Given the description of an element on the screen output the (x, y) to click on. 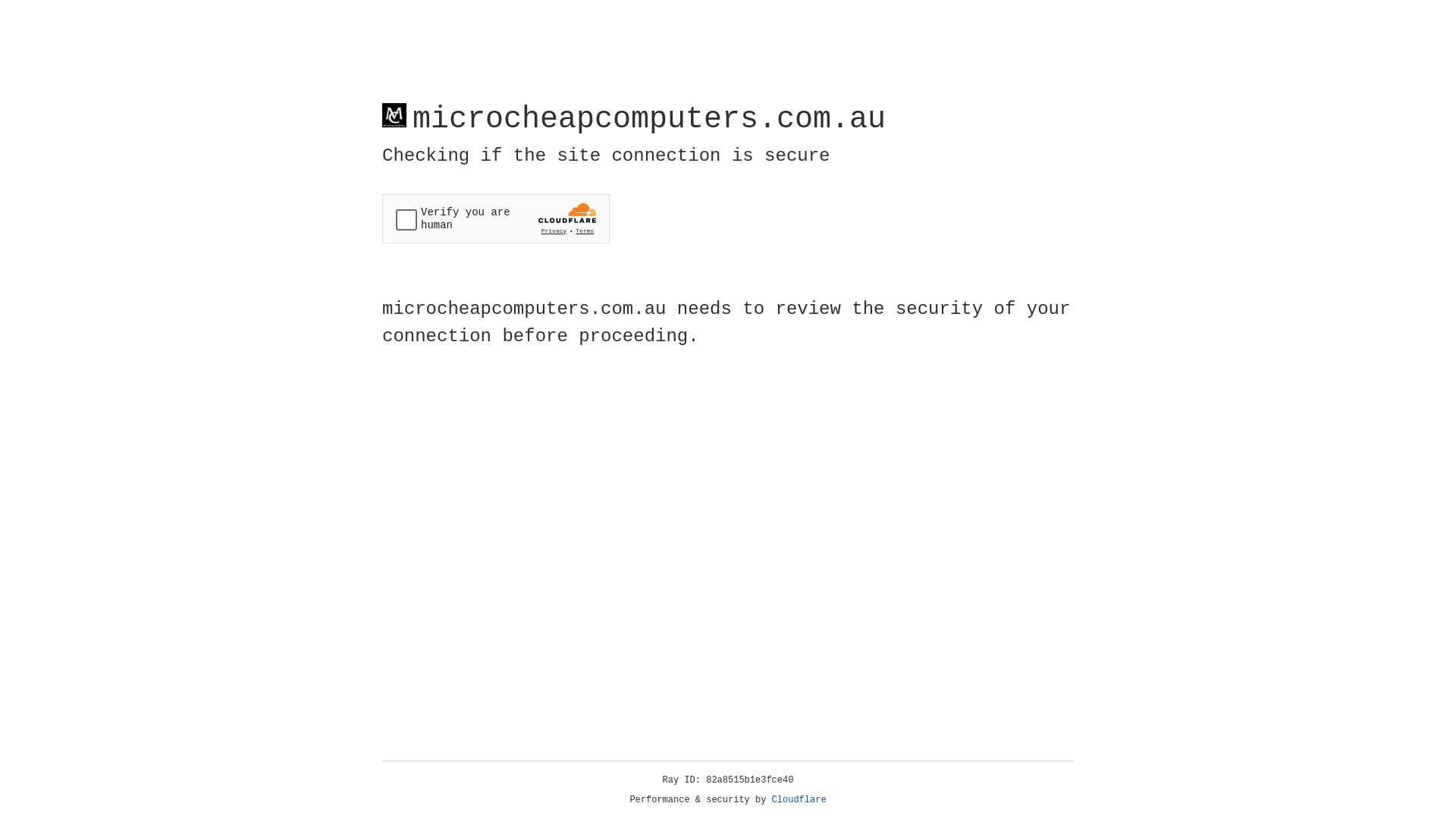
Cloudflare Element type: text (798, 799)
Widget containing a Cloudflare security challenge Element type: hover (495, 218)
